Given the description of an element on the screen output the (x, y) to click on. 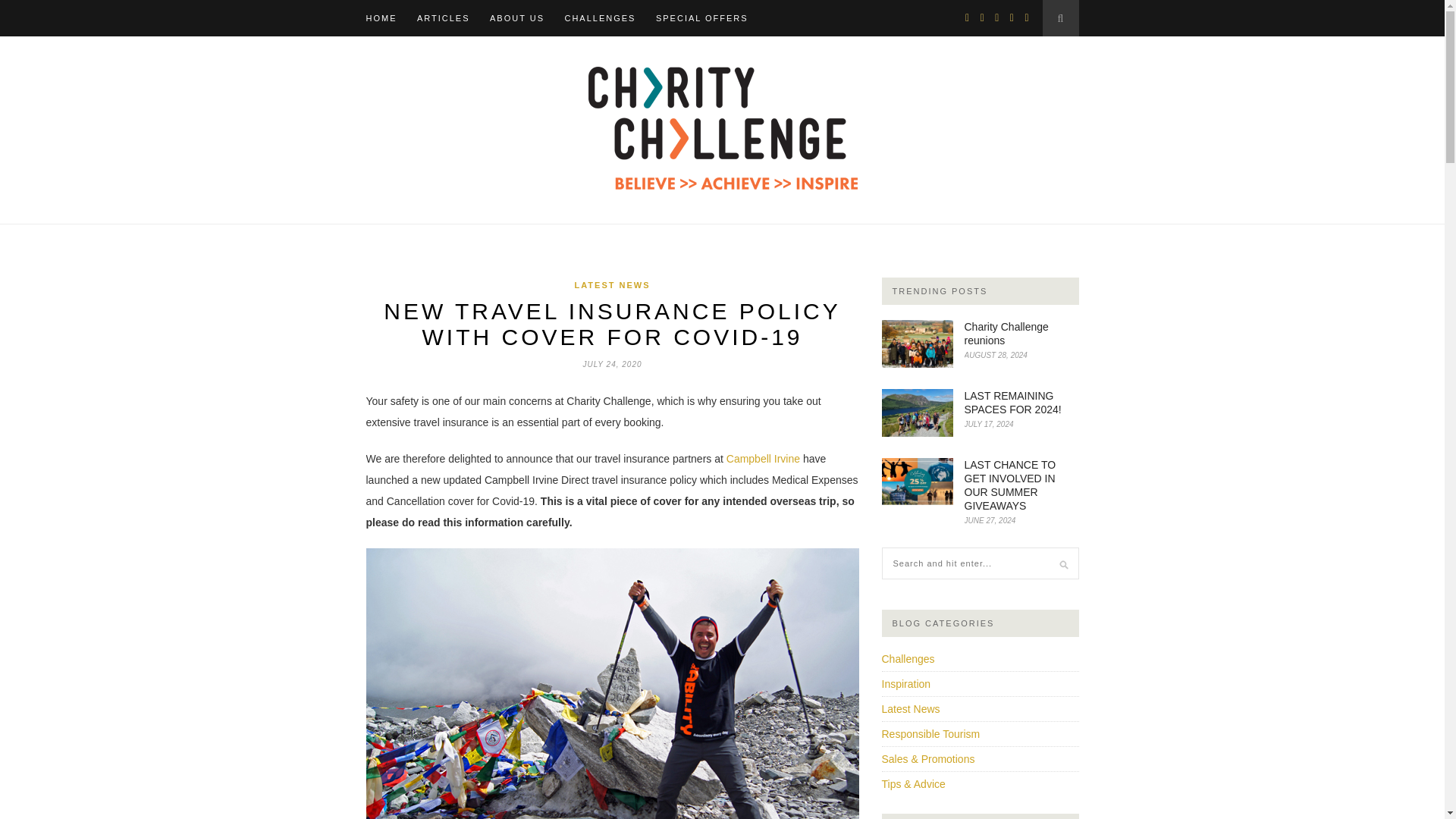
View all posts in Latest News (611, 284)
CHALLENGES (599, 18)
ABOUT US (516, 18)
SPECIAL OFFERS (702, 18)
LATEST NEWS (611, 284)
ARTICLES (443, 18)
Campbell Irvine (762, 458)
